Given the description of an element on the screen output the (x, y) to click on. 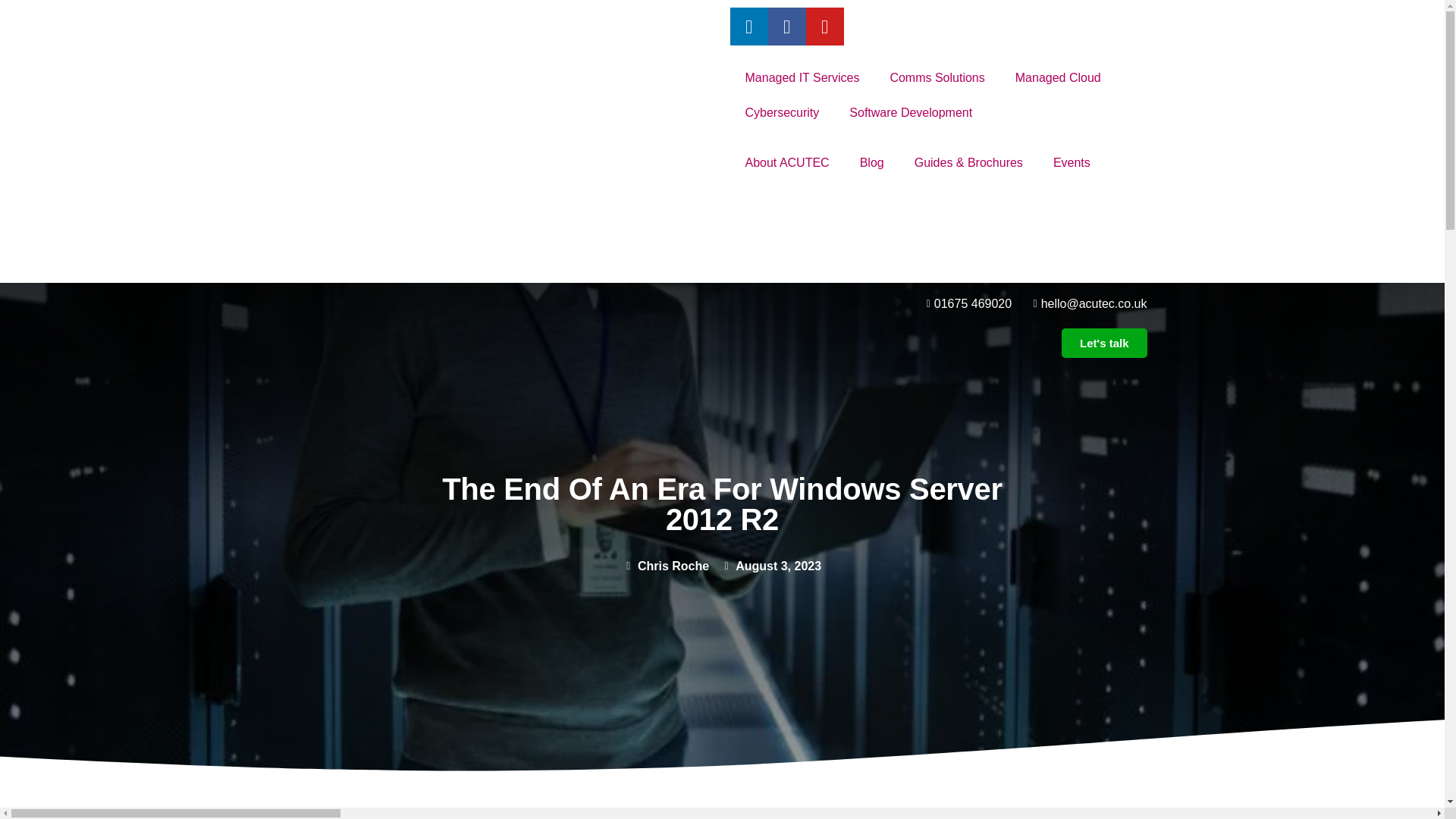
Managed Cloud (1058, 77)
Software Development (910, 112)
Cybersecurity (781, 112)
Blog (871, 162)
About ACUTEC (786, 162)
Comms Solutions (936, 77)
Managed IT Services (802, 77)
